Given the description of an element on the screen output the (x, y) to click on. 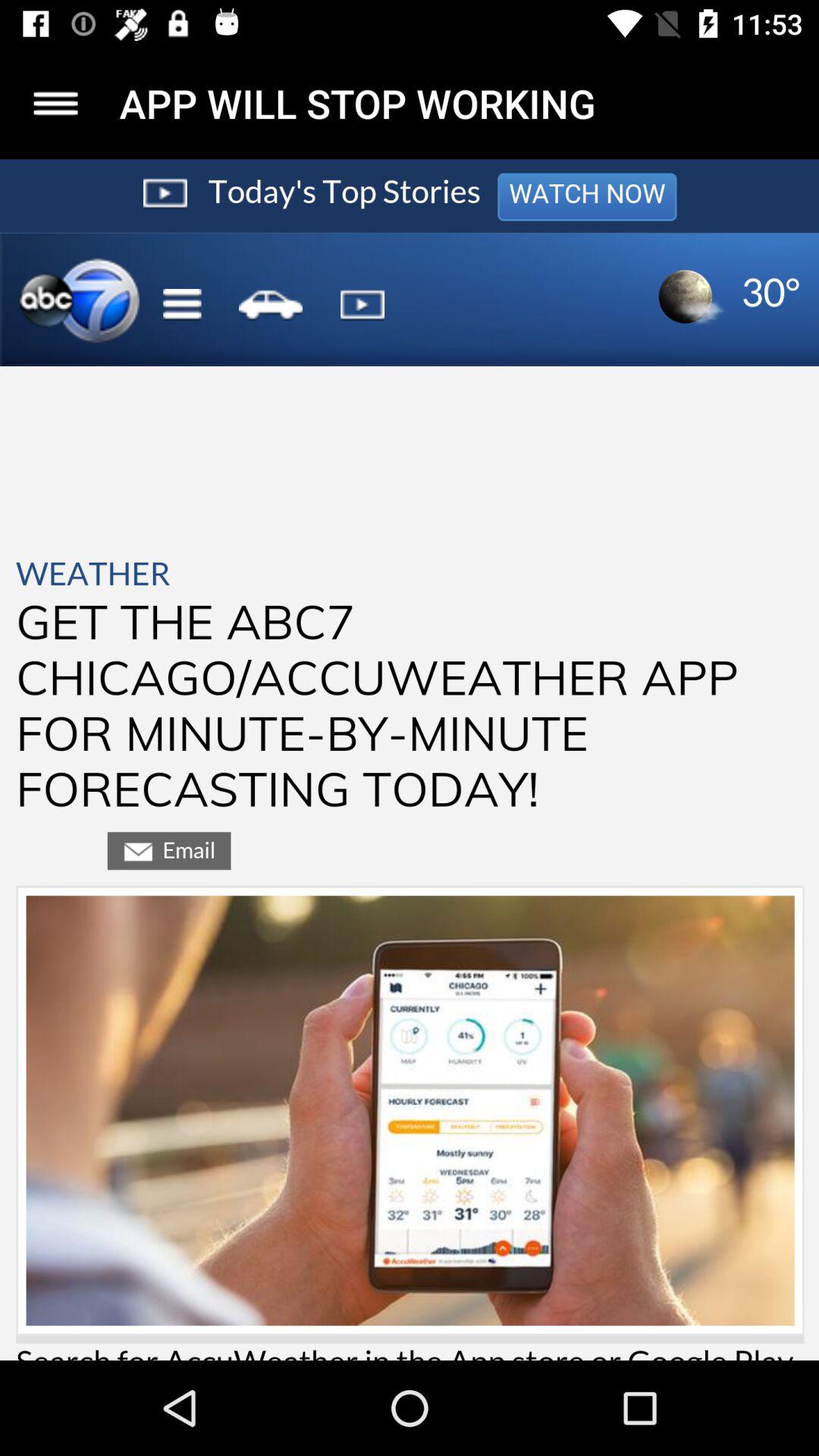
text area (409, 759)
